Given the description of an element on the screen output the (x, y) to click on. 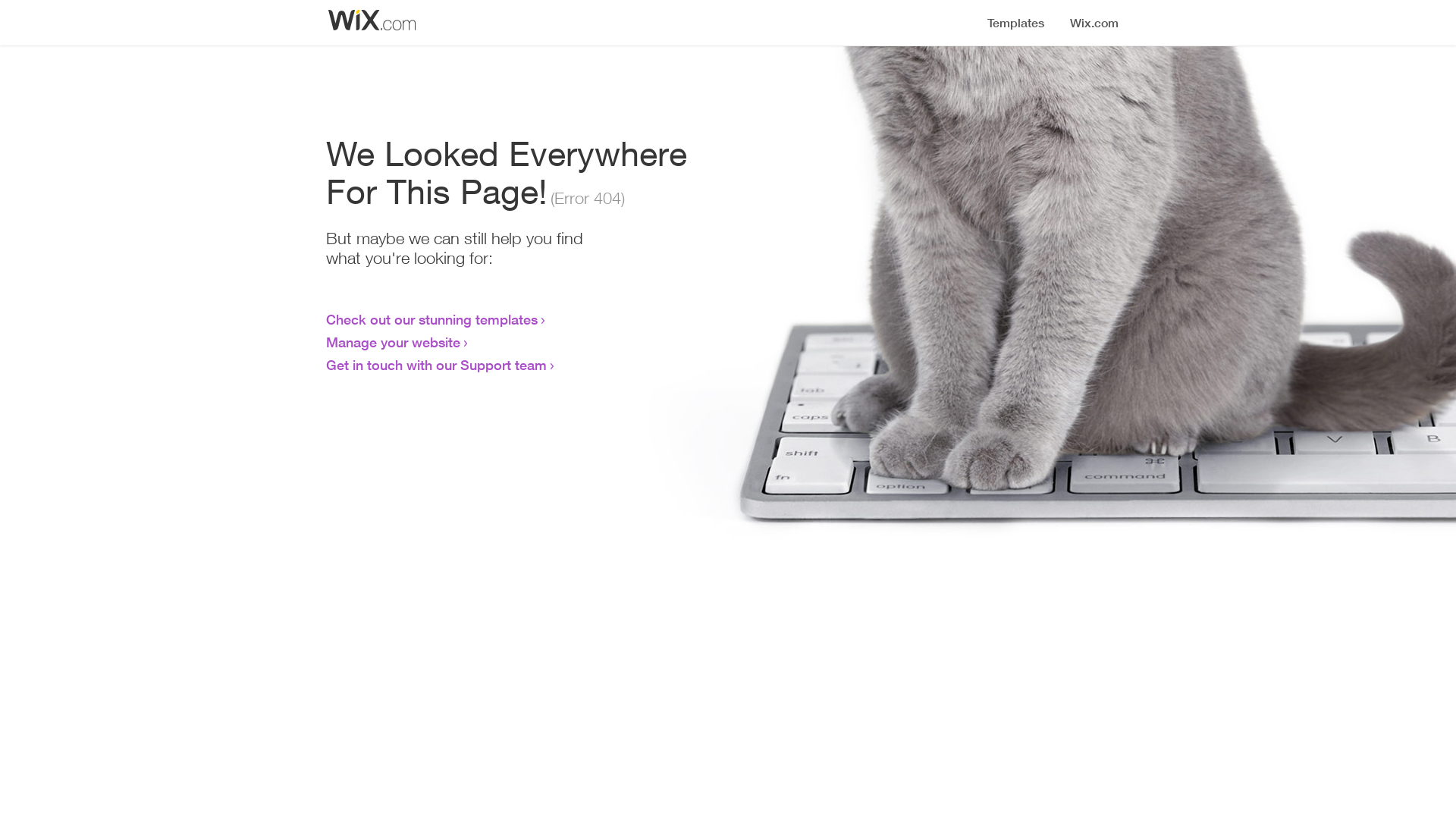
Manage your website Element type: text (393, 341)
Get in touch with our Support team Element type: text (436, 364)
Check out our stunning templates Element type: text (431, 318)
